Given the description of an element on the screen output the (x, y) to click on. 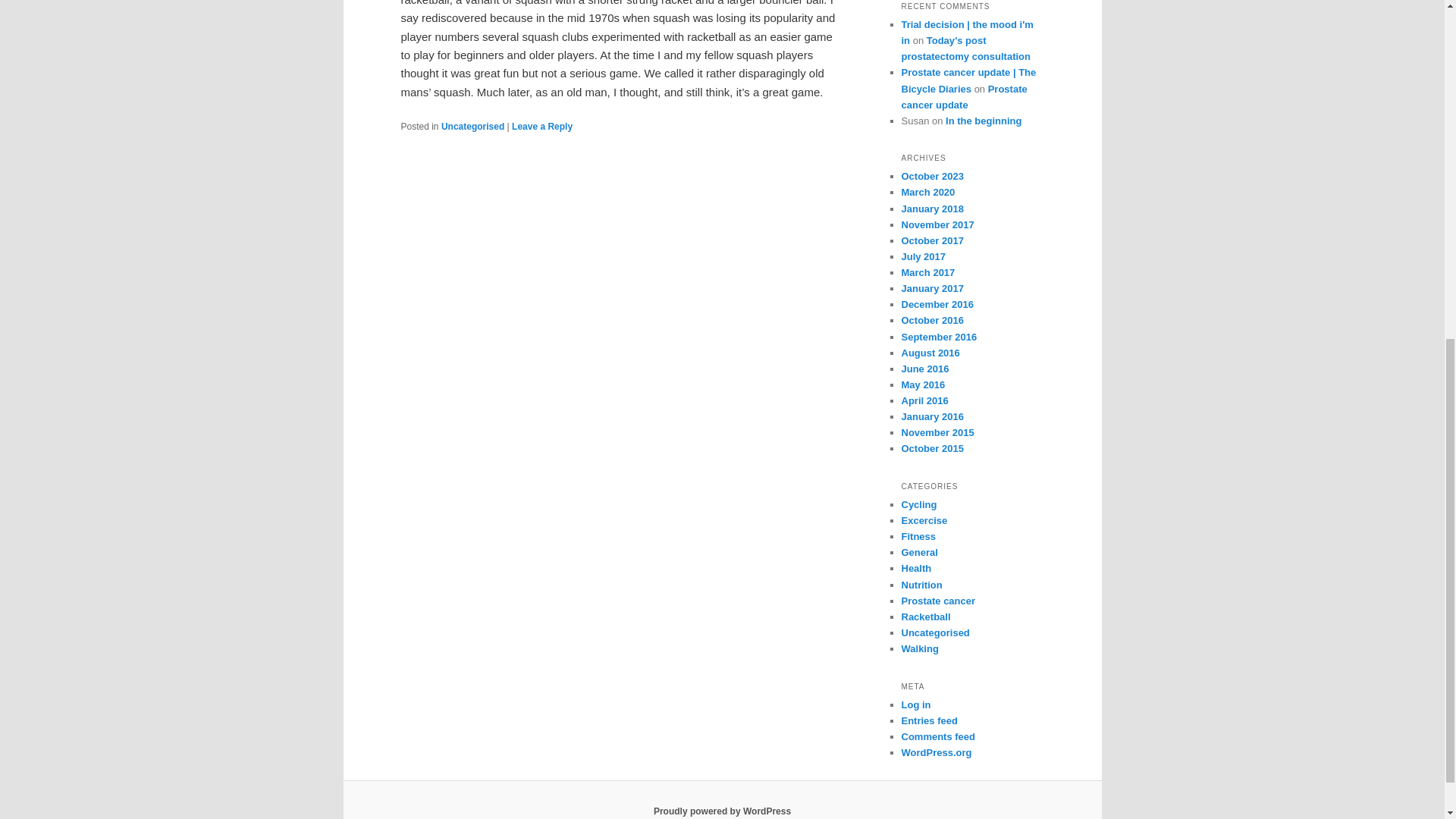
January 2016 (931, 416)
June 2016 (925, 368)
October 2023 (931, 175)
January 2017 (931, 288)
August 2016 (930, 352)
In the beginning (983, 120)
March 2017 (928, 272)
January 2018 (931, 208)
July 2017 (922, 256)
November 2017 (937, 224)
